Given the description of an element on the screen output the (x, y) to click on. 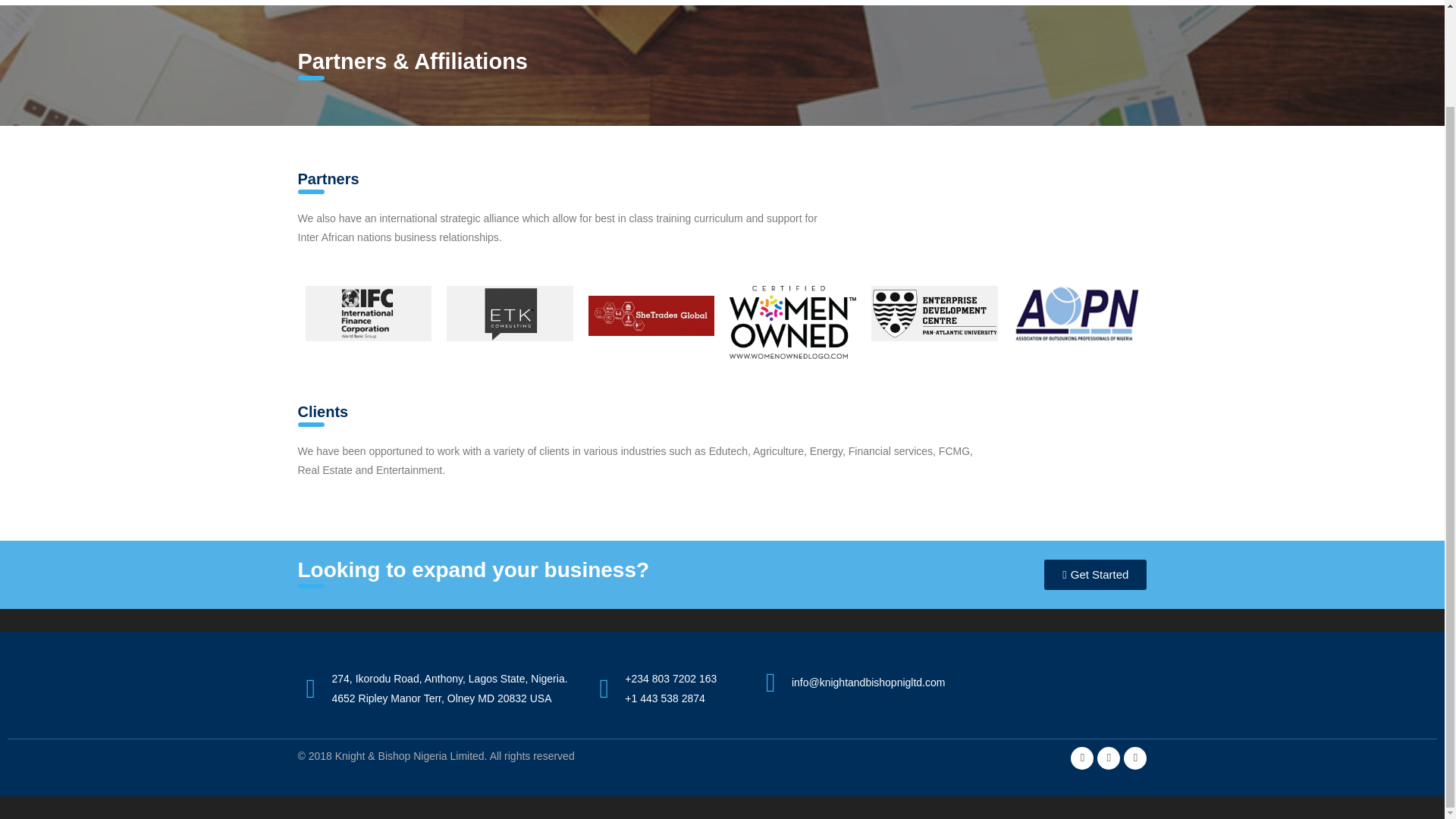
About Us (777, 2)
Get Started (1095, 574)
Services (852, 2)
Contact Us (1124, 2)
Career Placement (942, 2)
Home (713, 2)
